Given the description of an element on the screen output the (x, y) to click on. 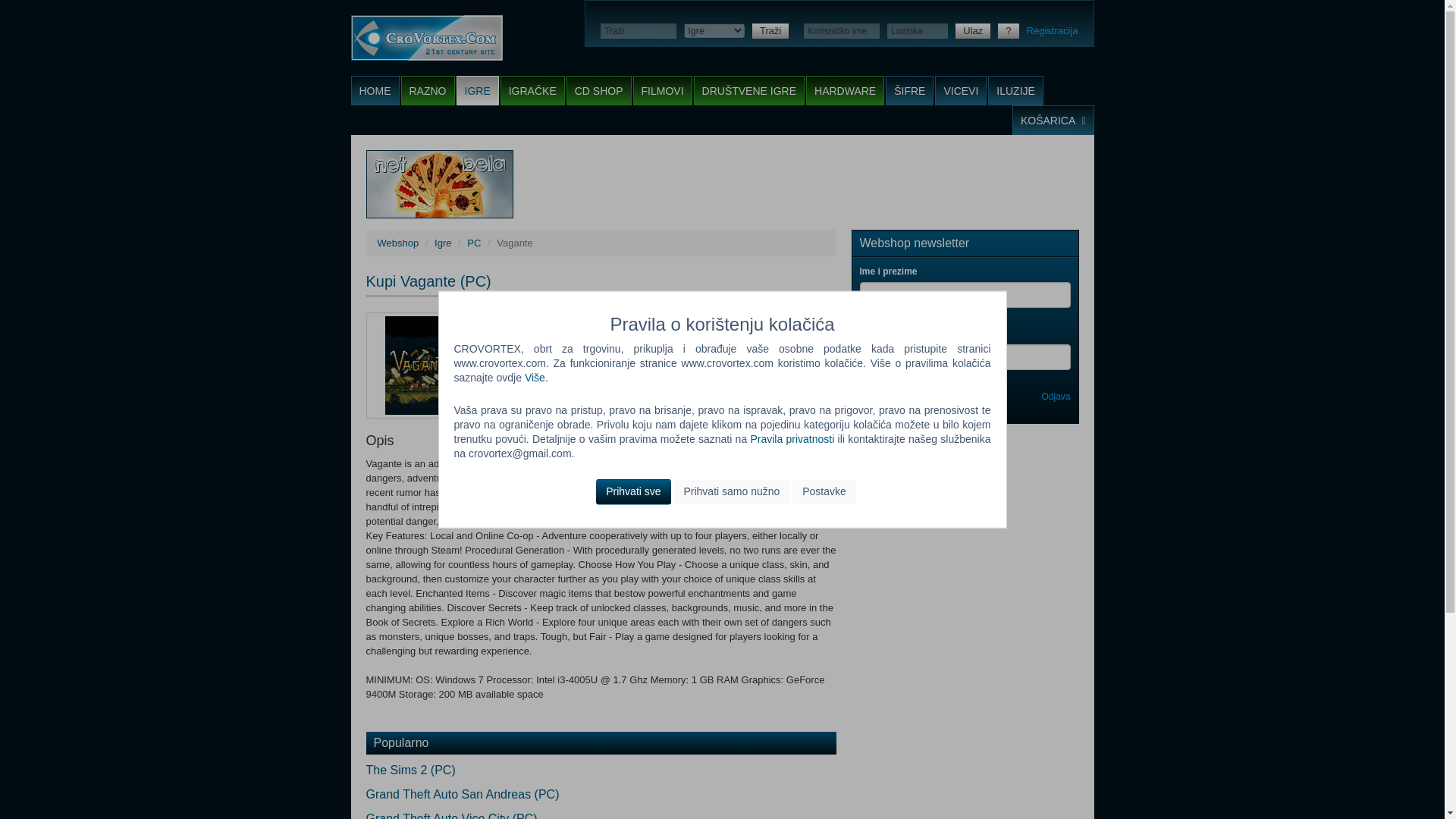
HOME (374, 90)
? (1007, 30)
Ulaz (972, 30)
IGRE (478, 90)
RAZNO (427, 90)
Registracija (1052, 30)
CroVortex (426, 37)
